Given the description of an element on the screen output the (x, y) to click on. 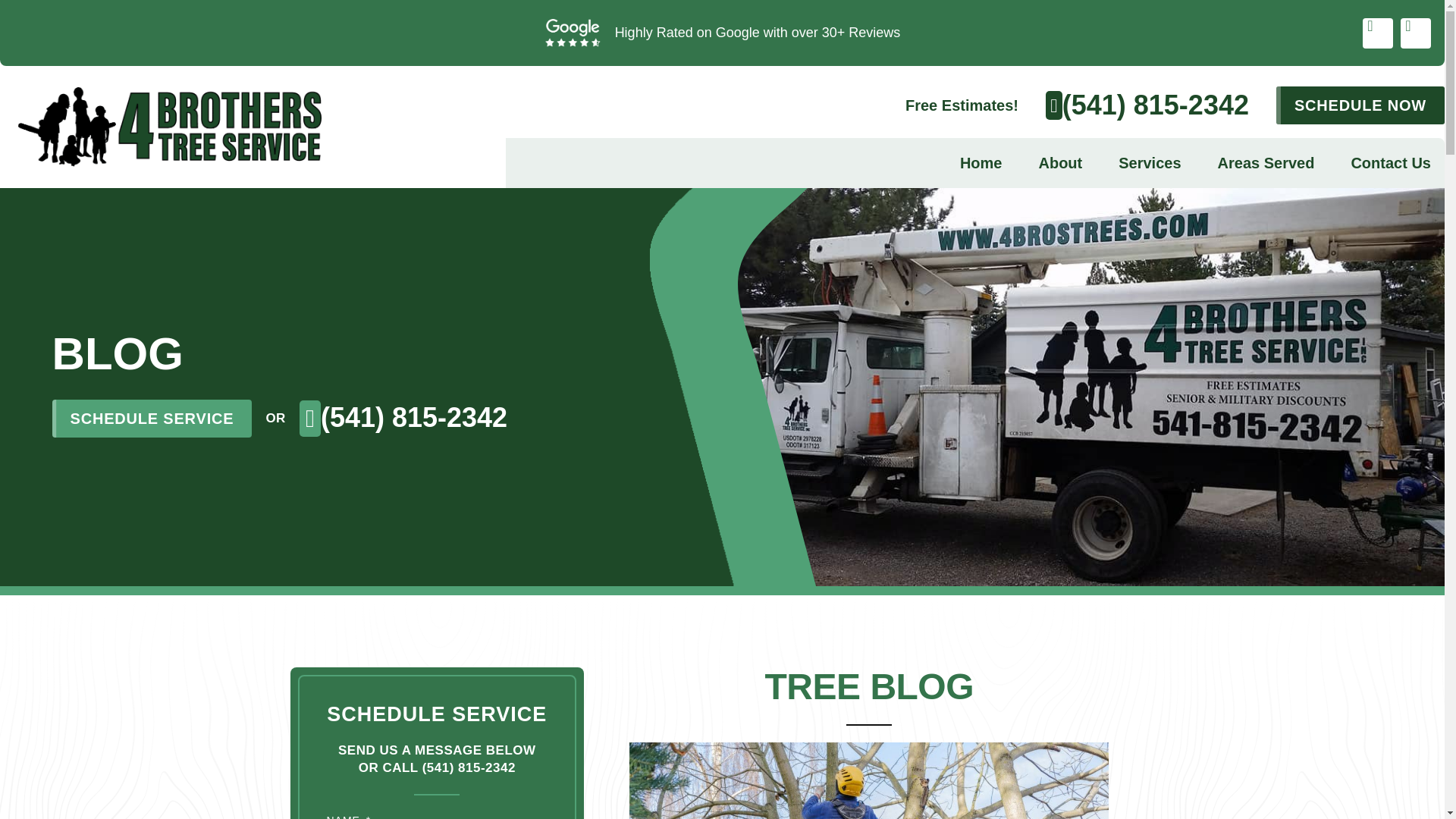
Home (981, 162)
Areas Served (1265, 162)
Contact Us (1391, 162)
Free Estimates! (961, 105)
About (1059, 162)
SCHEDULE SERVICE (151, 418)
Services (1149, 162)
